Given the description of an element on the screen output the (x, y) to click on. 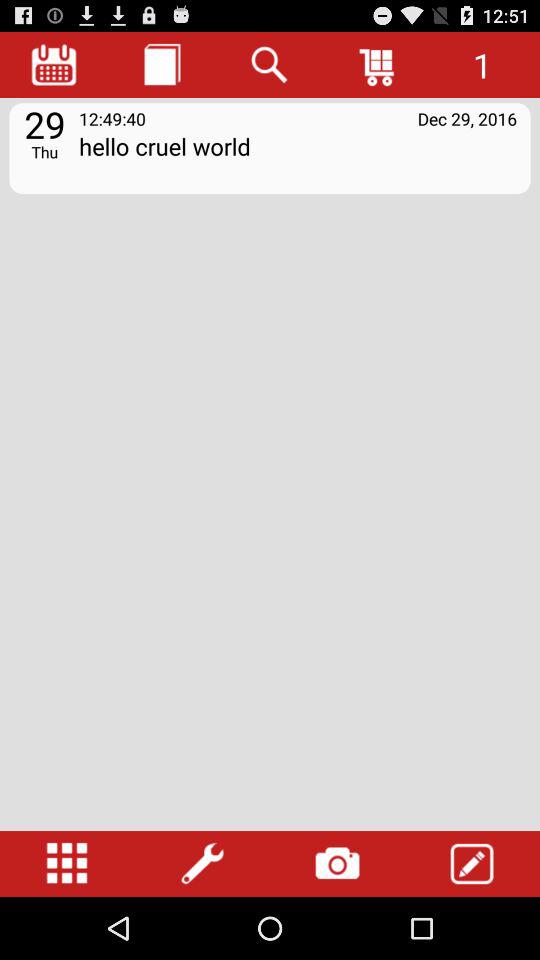
press button at the bottom left corner (67, 863)
